Given the description of an element on the screen output the (x, y) to click on. 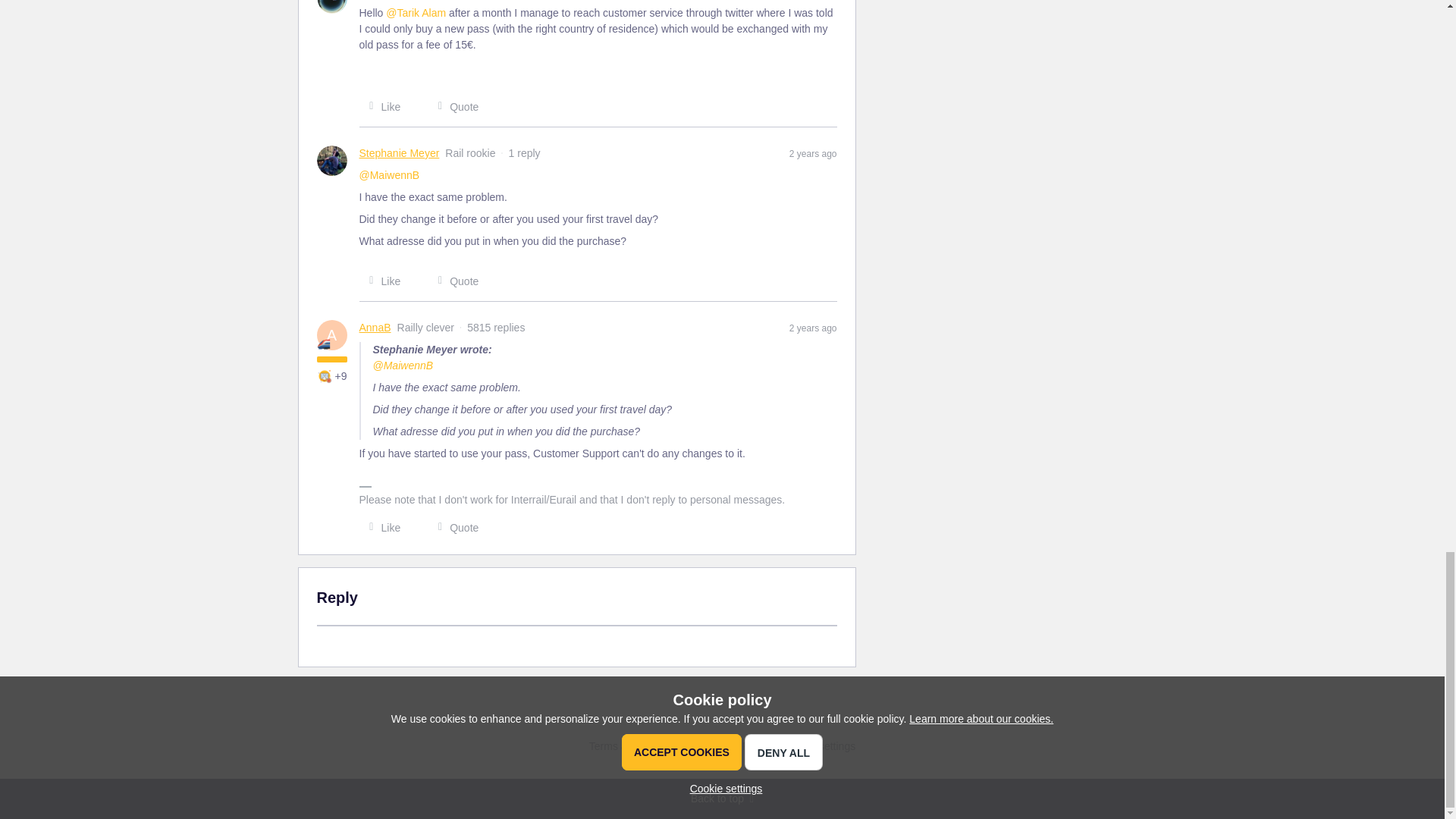
Back to top (722, 798)
